Given the description of an element on the screen output the (x, y) to click on. 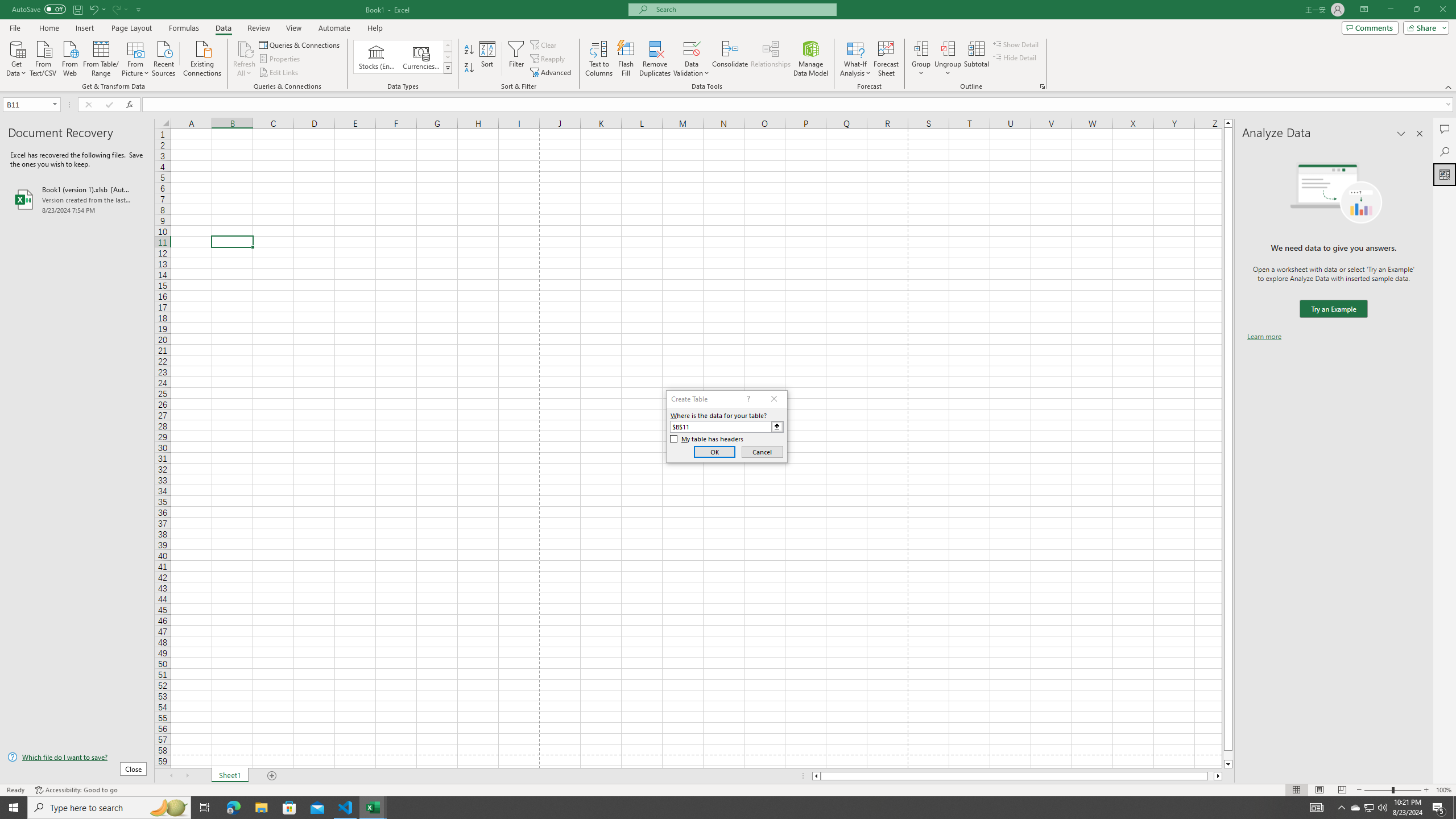
Sort A to Z (469, 49)
